Given the description of an element on the screen output the (x, y) to click on. 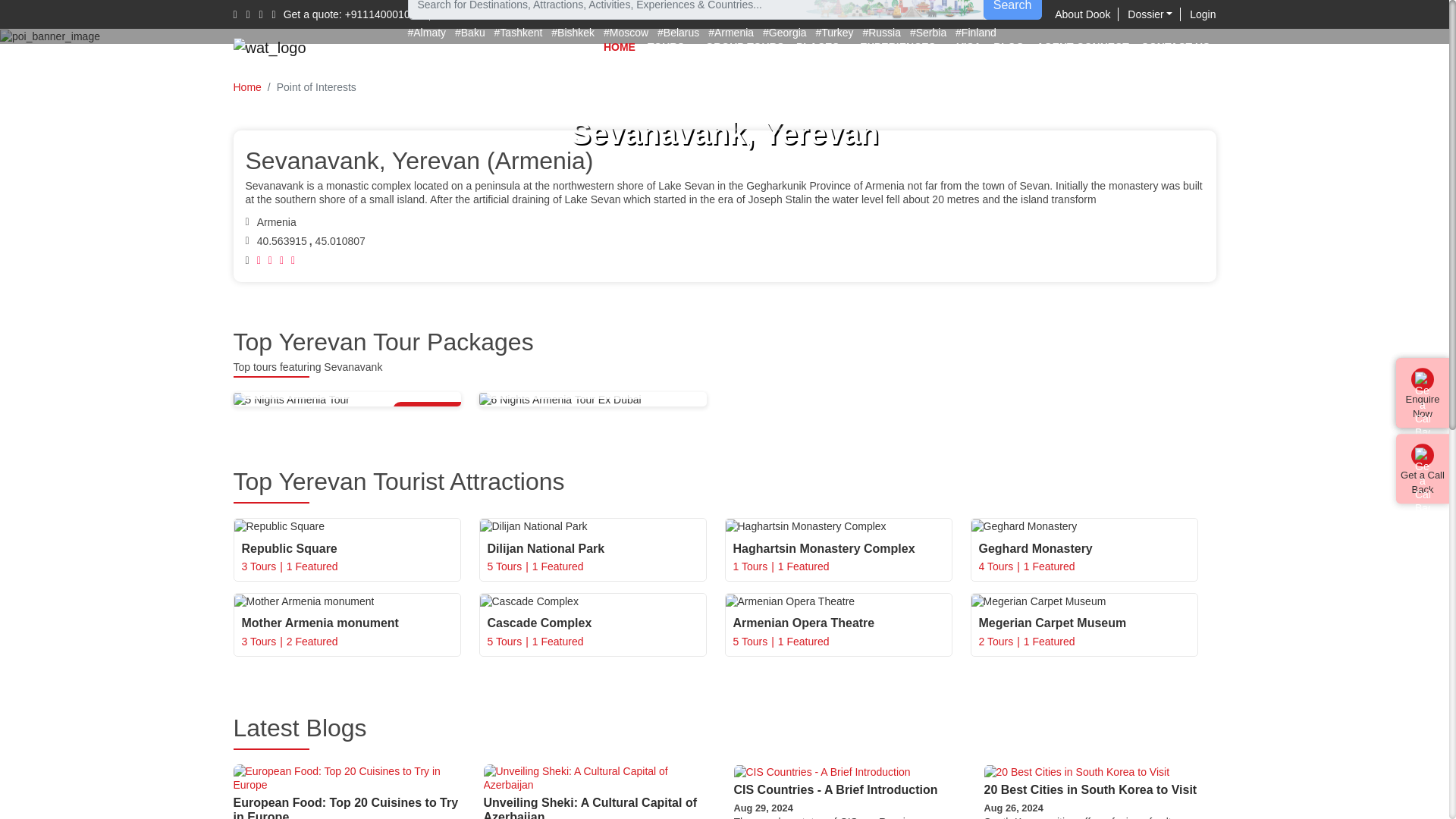
TOURS (670, 46)
GROUP TOURS (744, 46)
HOME (619, 46)
Dossier (1152, 14)
PLACES (821, 46)
Login (1202, 14)
About Dook (1086, 14)
